Given the description of an element on the screen output the (x, y) to click on. 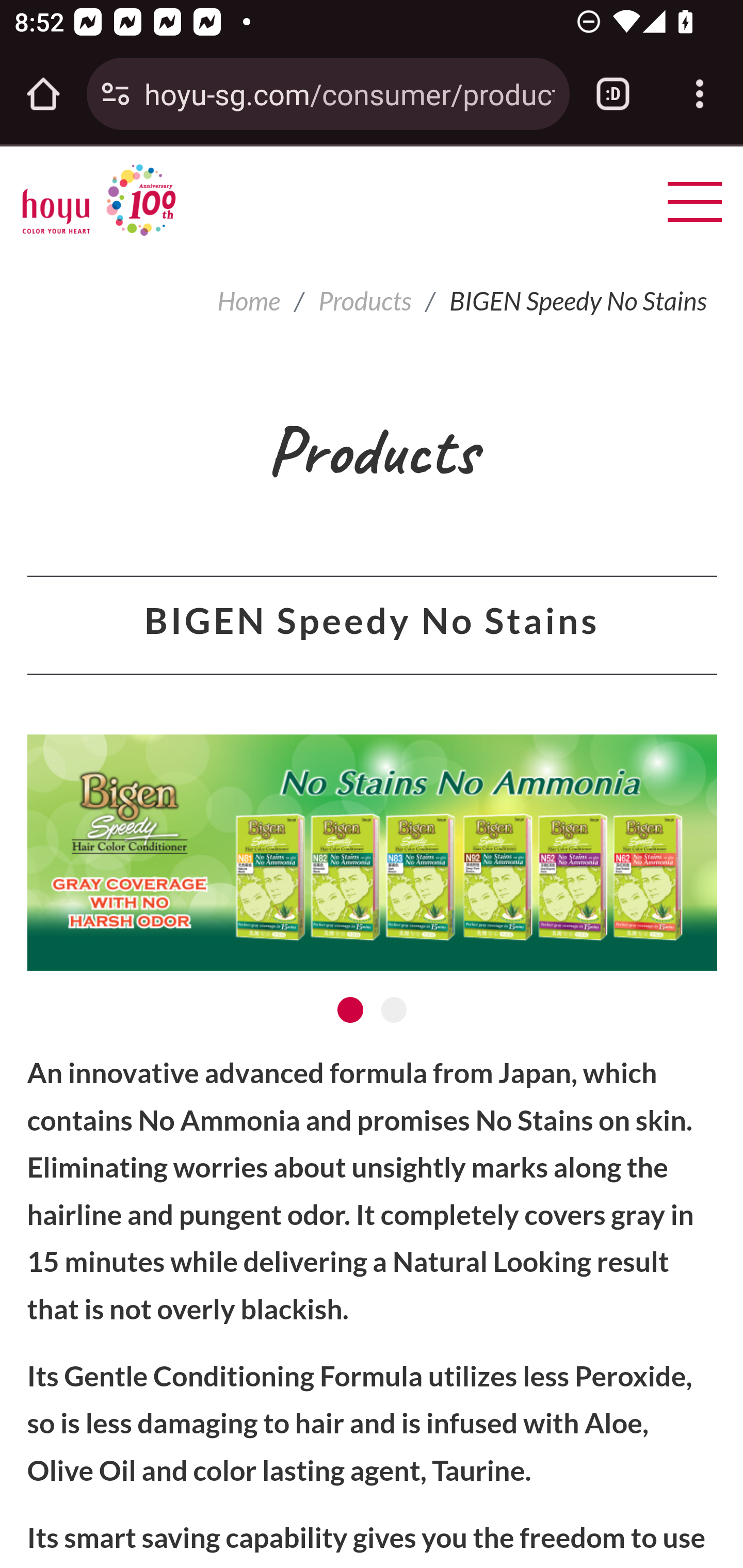
Open the home page (43, 93)
Connection is secure (115, 93)
Switch or close tabs (612, 93)
Customize and control Google Chrome (699, 93)
hoyu Singapore (98, 199)
Home (248, 300)
Products (365, 300)
